Given the description of an element on the screen output the (x, y) to click on. 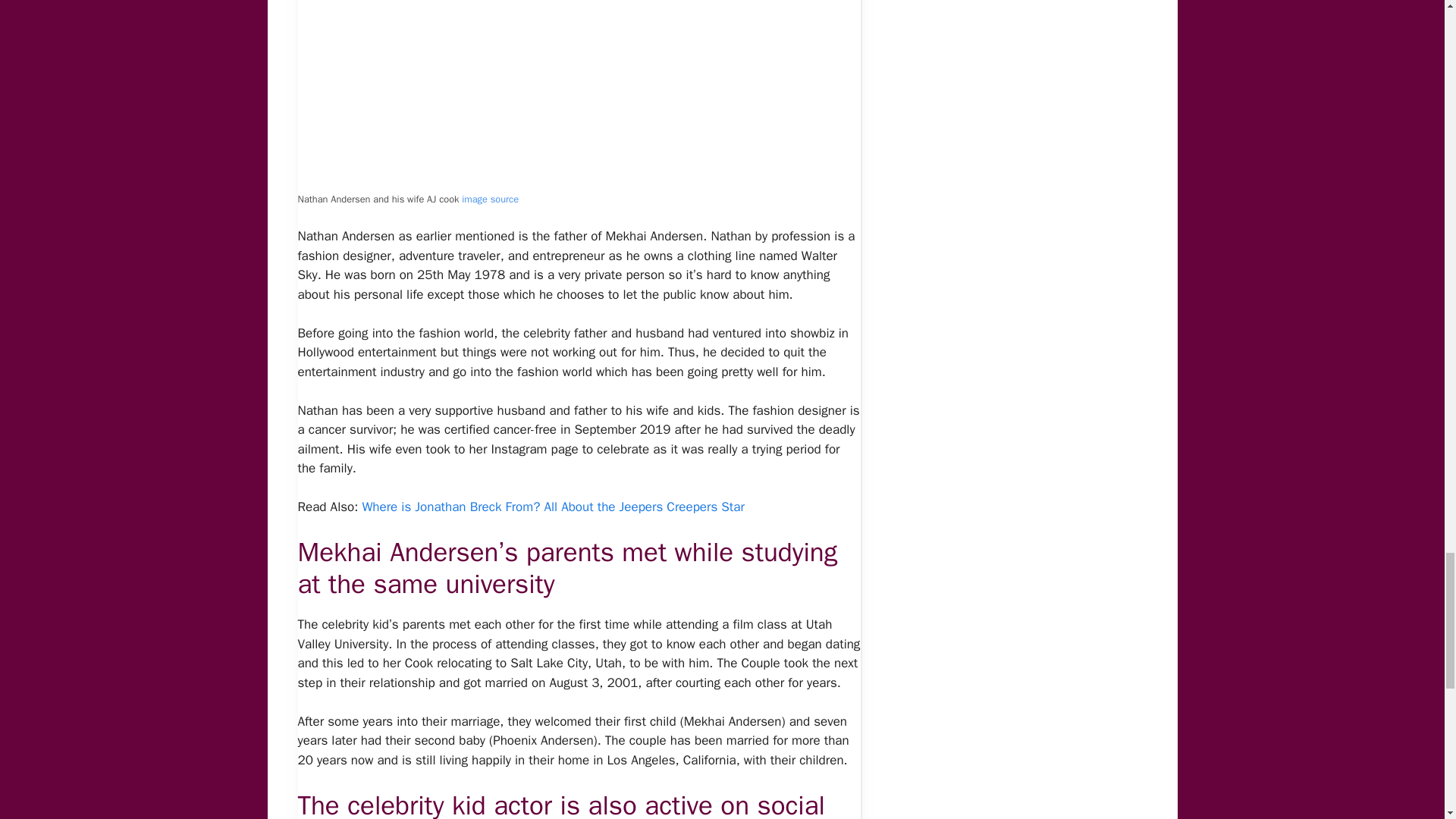
image source (489, 199)
